Given the description of an element on the screen output the (x, y) to click on. 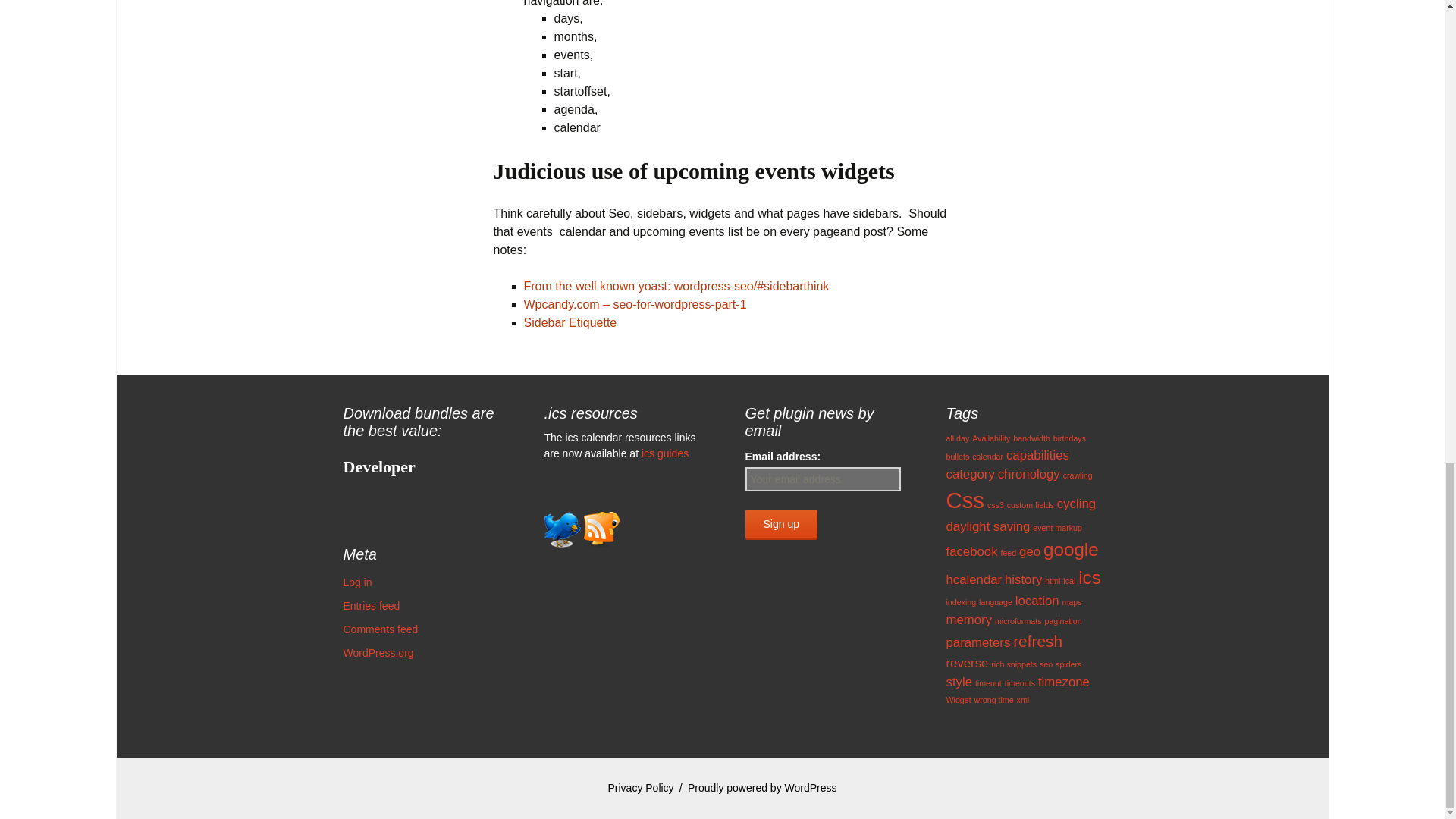
Follow updates on twitter (562, 528)
Side bar thinkingfrom Yoast (675, 286)
Subscribe to Updates by RSS (601, 528)
See the section  on sidebar widgets (633, 304)
Sign up (780, 524)
